Given the description of an element on the screen output the (x, y) to click on. 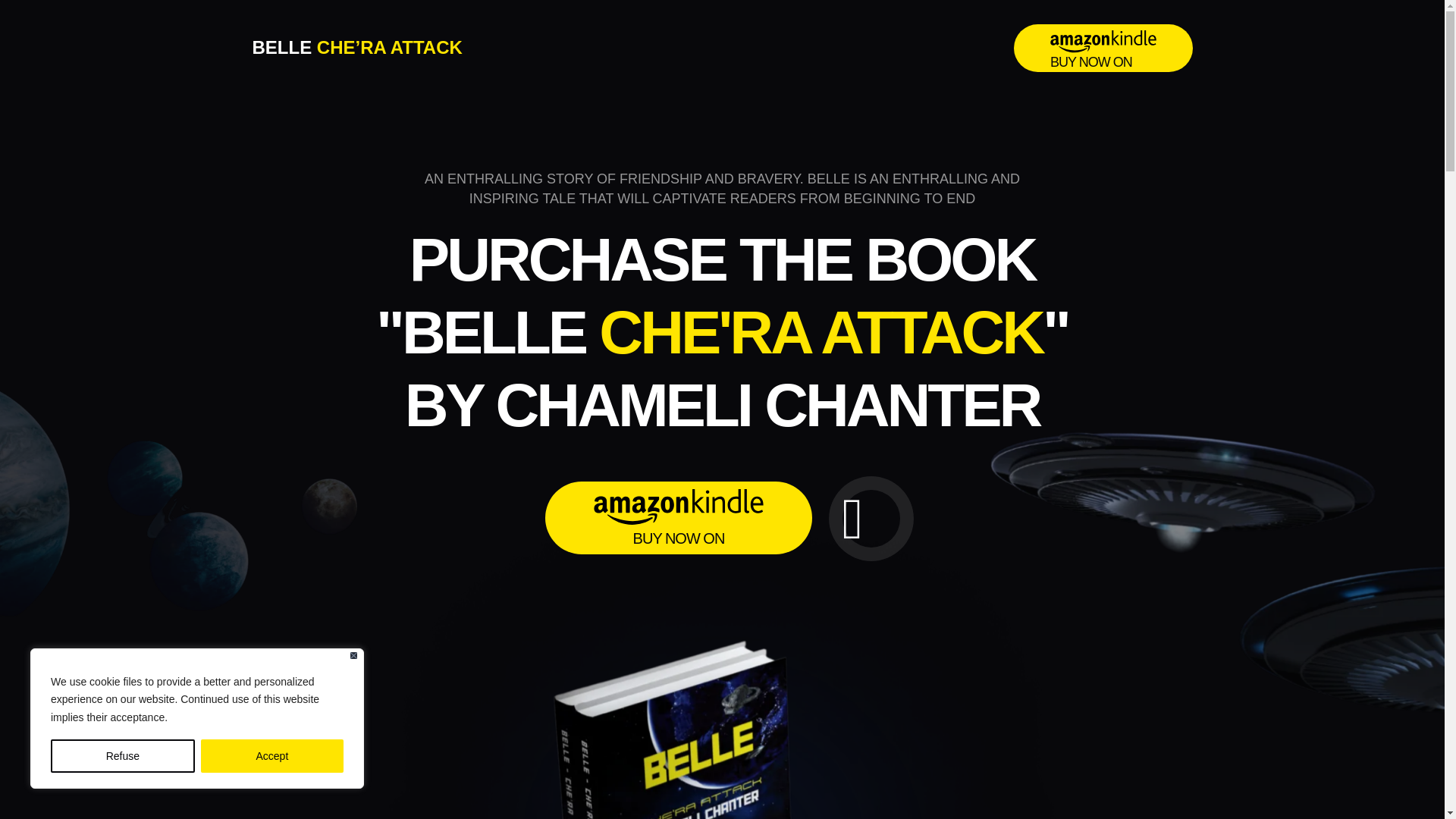
Accept (271, 756)
Refuse (122, 756)
BUY NOW ON (677, 517)
BUY NOW ON (1102, 48)
